Given the description of an element on the screen output the (x, y) to click on. 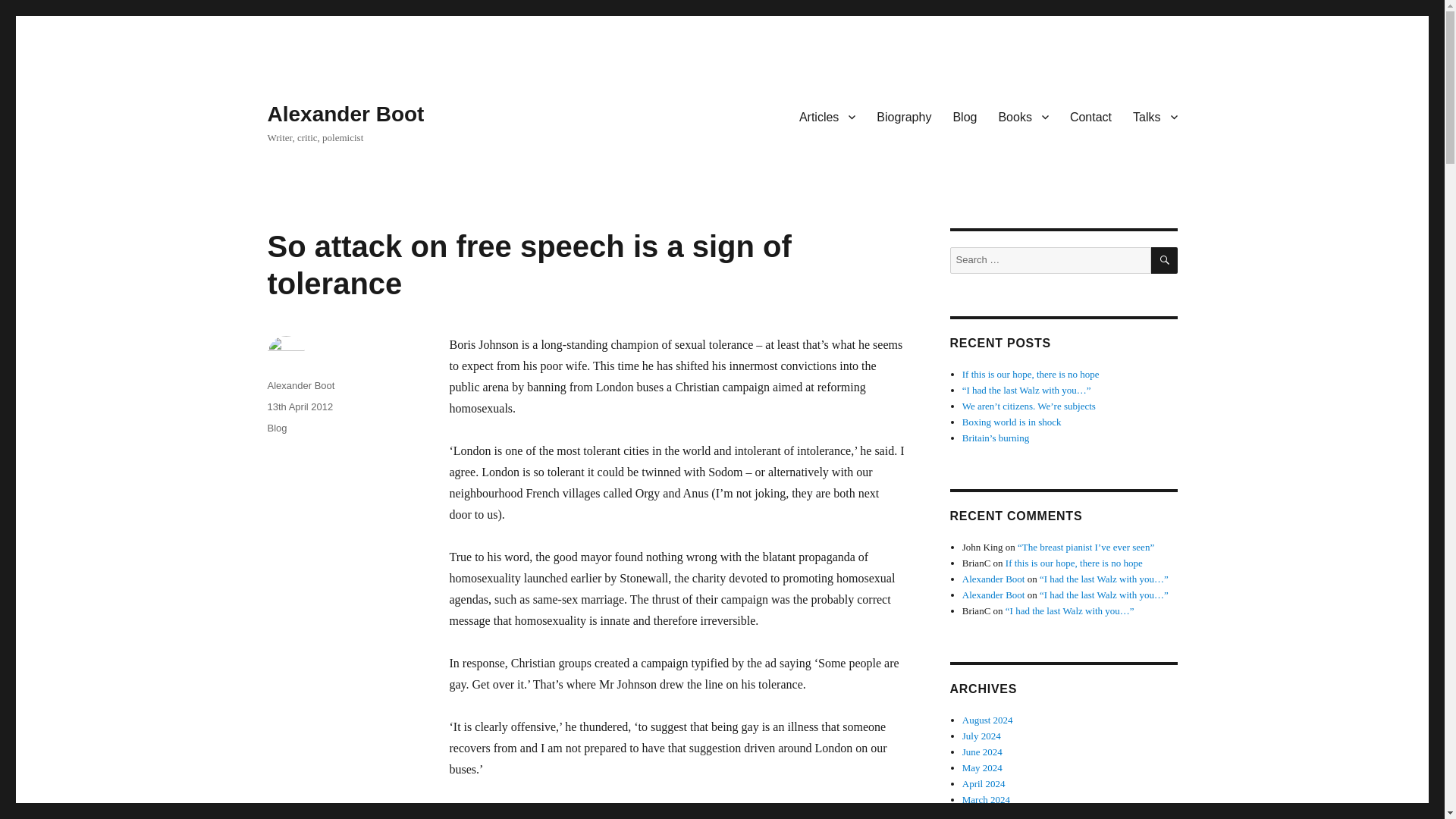
Articles (827, 116)
Biography (904, 116)
13th April 2012 (299, 406)
Contact (1090, 116)
Boxing world is in shock (1011, 421)
Alexander Boot (344, 114)
Books (1022, 116)
SEARCH (1164, 260)
Blog (964, 116)
Talks (1155, 116)
